Given the description of an element on the screen output the (x, y) to click on. 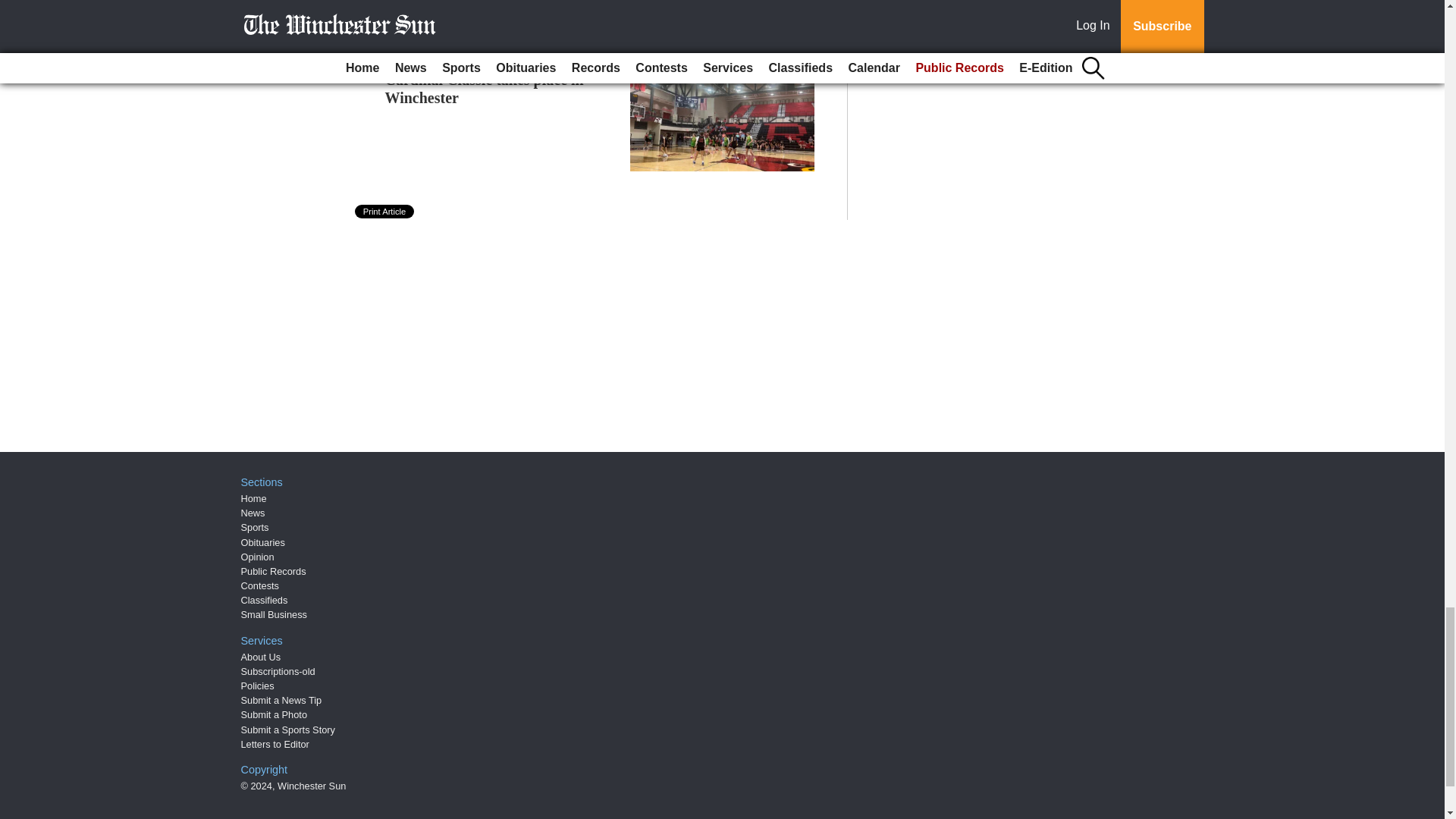
Cardinal Classic takes place in Winchester (484, 88)
Print Article (384, 211)
Sports (255, 527)
News (252, 512)
Cardinal Classic takes place in Winchester (484, 88)
Home (253, 498)
